Given the description of an element on the screen output the (x, y) to click on. 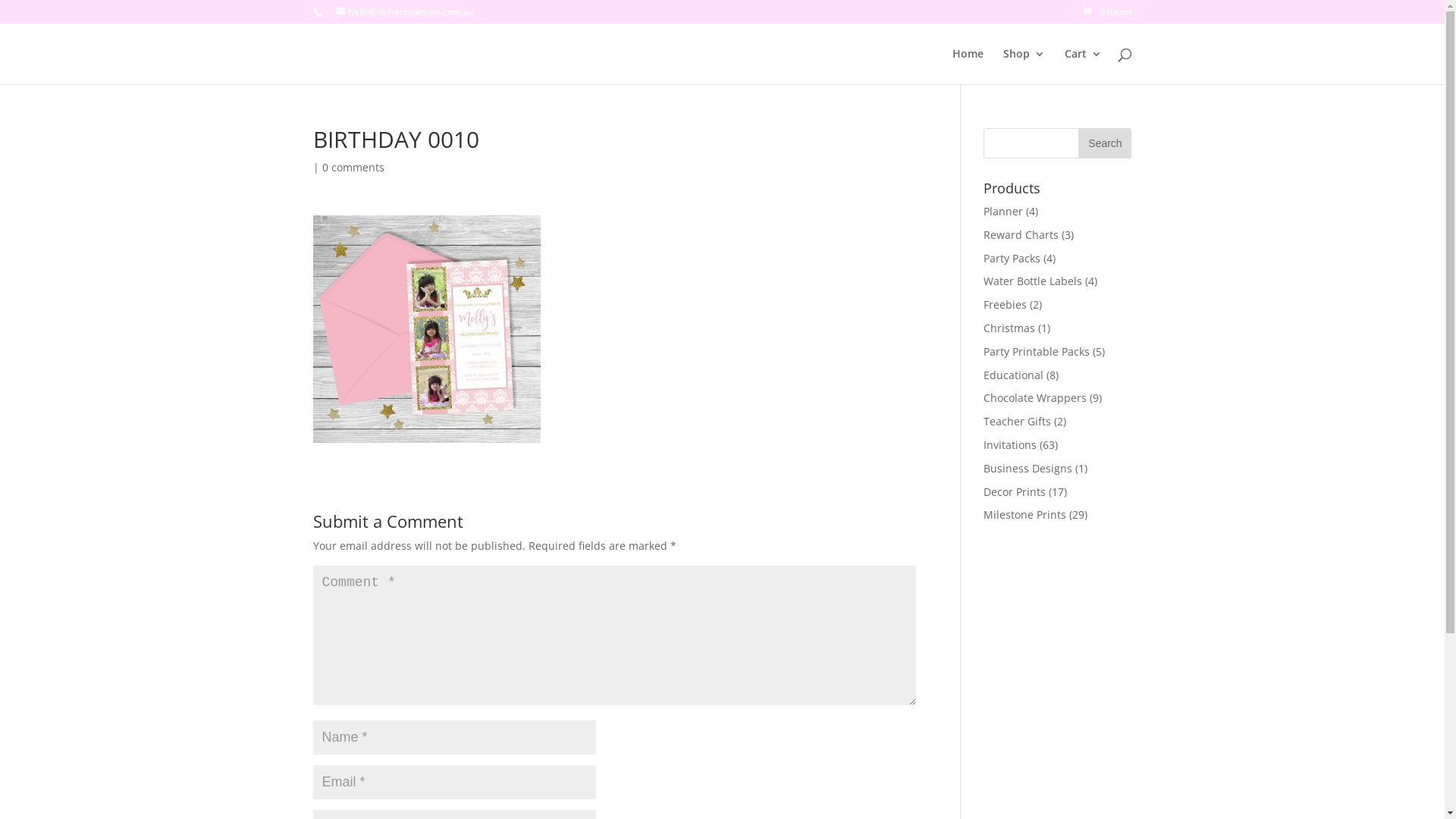
Party Packs Element type: text (1011, 258)
0 comments Element type: text (352, 167)
Planner Element type: text (1002, 210)
Search Element type: text (1104, 143)
Milestone Prints Element type: text (1024, 514)
Chocolate Wrappers Element type: text (1034, 397)
Home Element type: text (967, 66)
Christmas Element type: text (1009, 327)
Freebies Element type: text (1004, 304)
Reward Charts Element type: text (1020, 234)
hello@dohertydesign.com.au Element type: text (404, 11)
Water Bottle Labels Element type: text (1032, 280)
0 Items Element type: text (1107, 11)
Cart Element type: text (1082, 66)
Shop Element type: text (1023, 66)
Teacher Gifts Element type: text (1017, 421)
Decor Prints Element type: text (1014, 491)
Business Designs Element type: text (1027, 468)
Invitations Element type: text (1009, 444)
Educational Element type: text (1013, 374)
Party Printable Packs Element type: text (1036, 351)
